Given the description of an element on the screen output the (x, y) to click on. 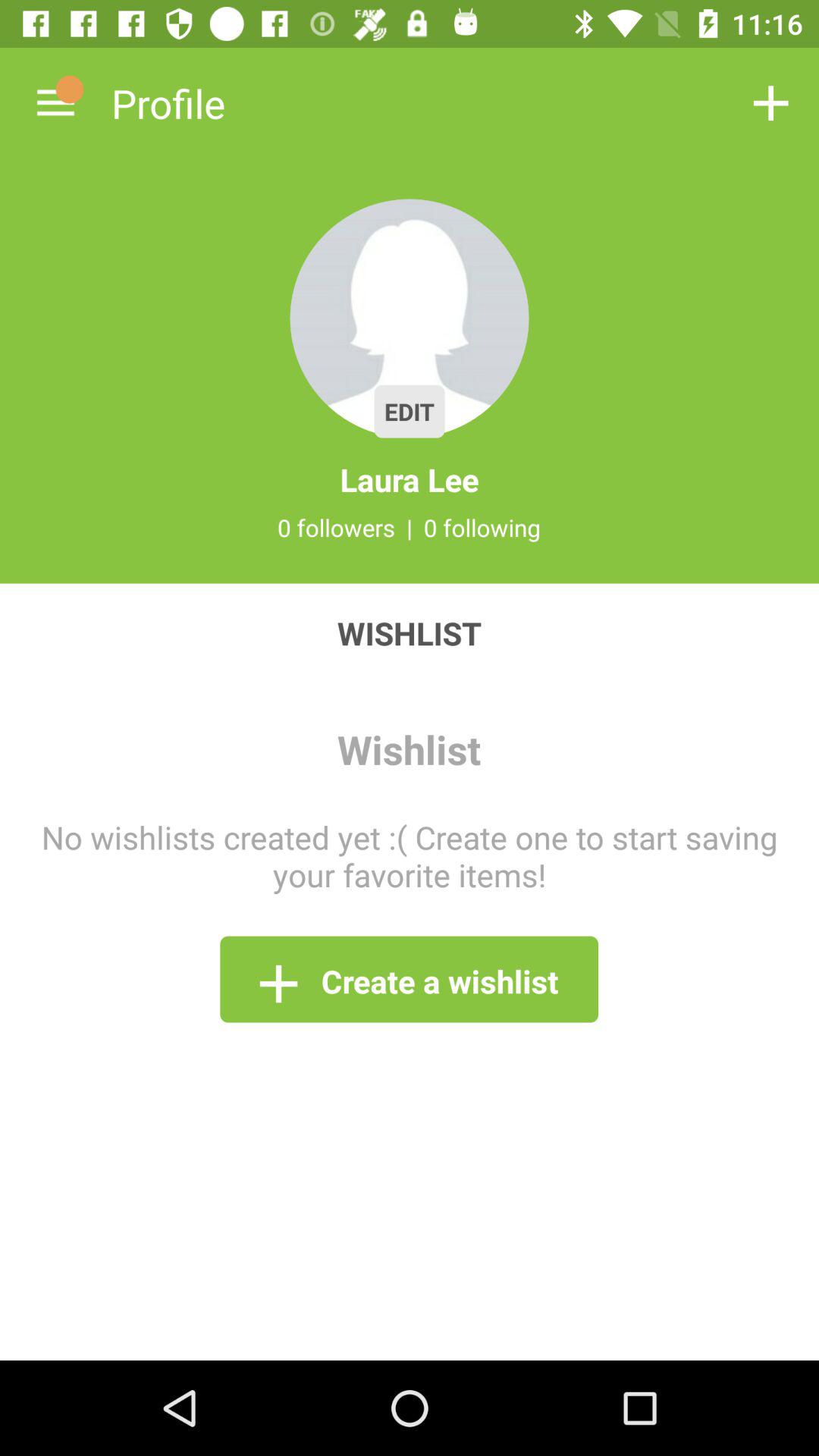
turn off the 0 followers (336, 527)
